Given the description of an element on the screen output the (x, y) to click on. 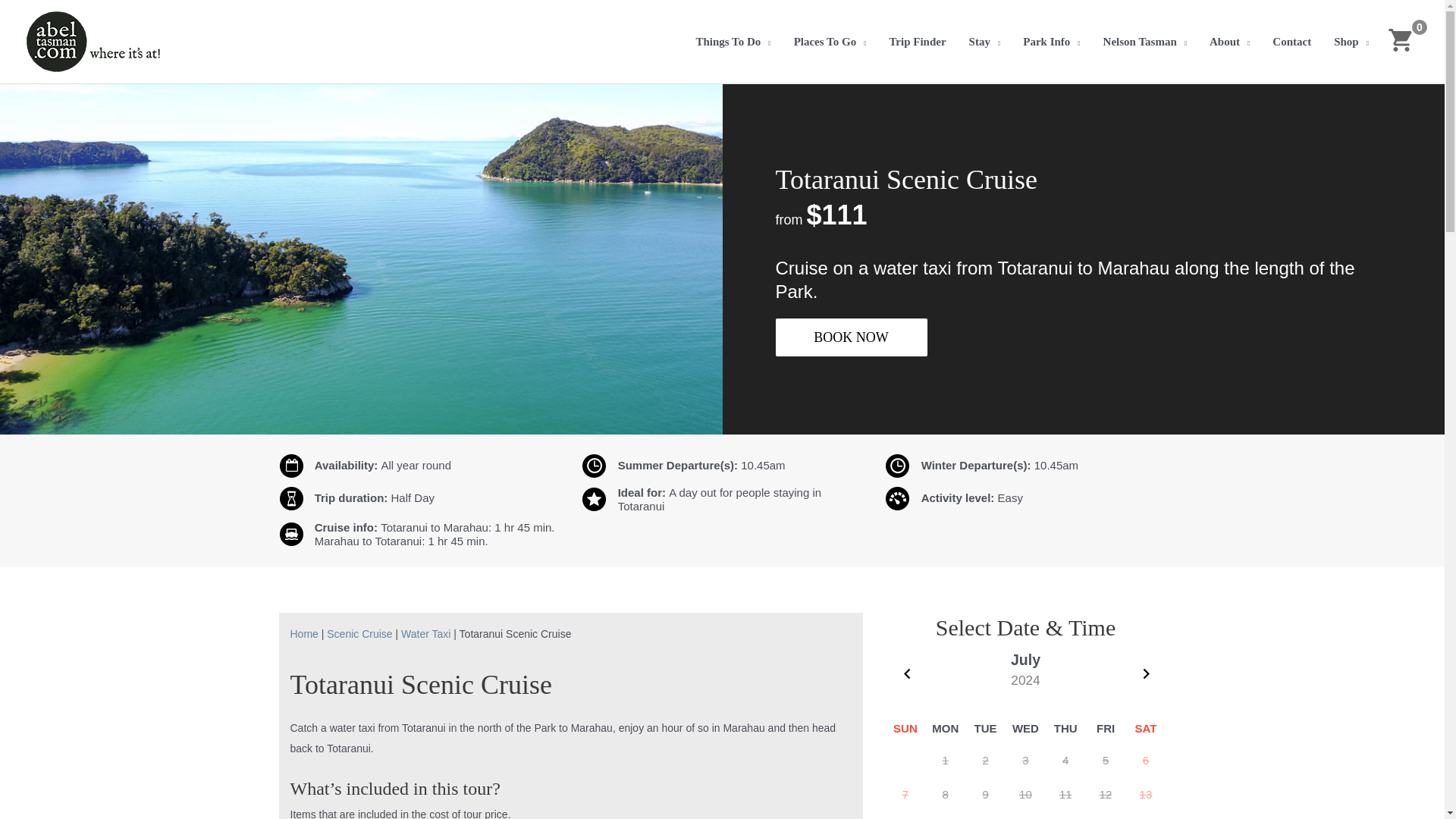
Places To Go (830, 41)
Things To Do (732, 41)
Park Info (1050, 41)
Trip Finder (916, 41)
Stay (984, 41)
